Given the description of an element on the screen output the (x, y) to click on. 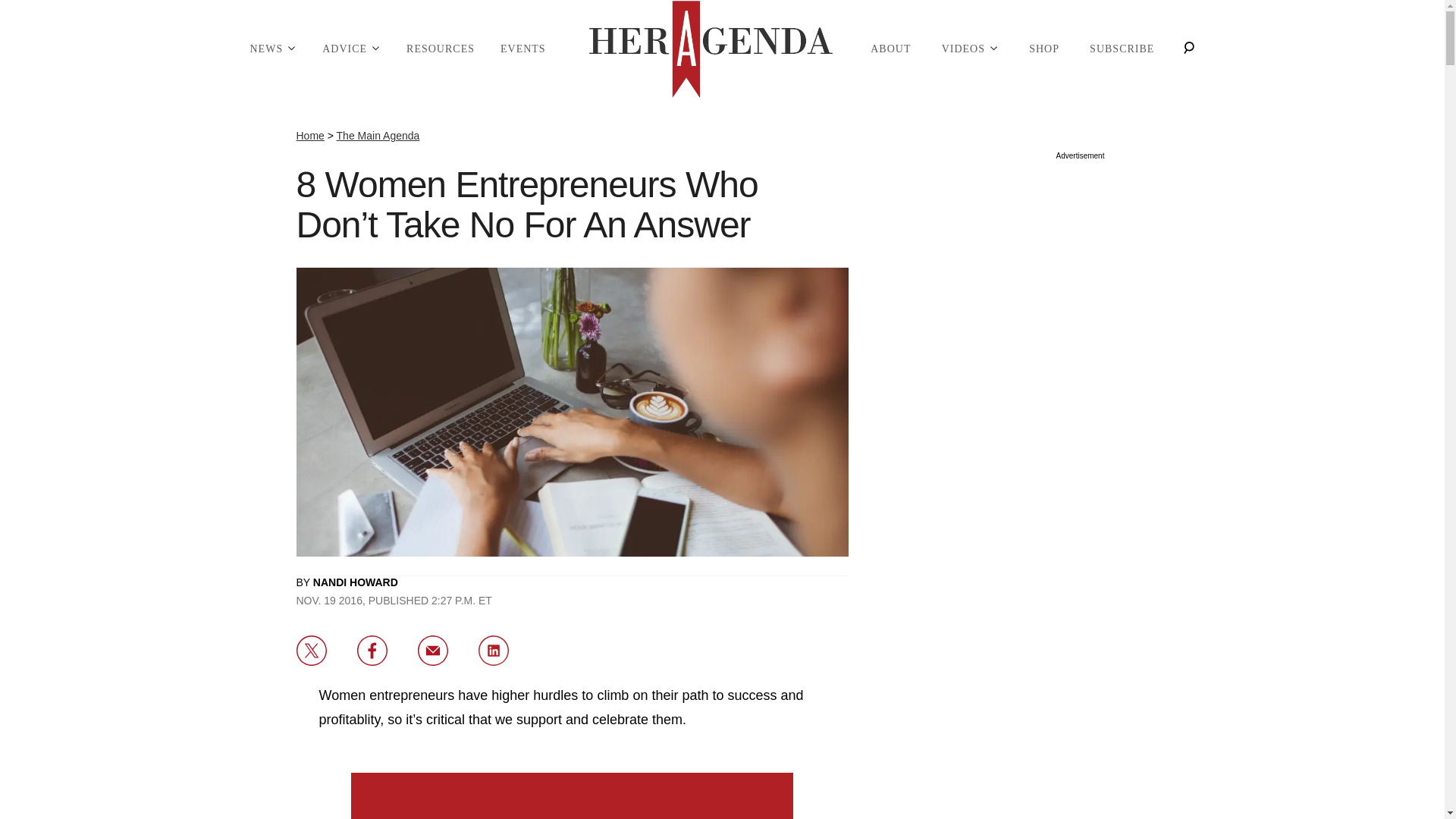
RESOURCES (440, 49)
ABOUT (890, 49)
SHOP (1043, 49)
Search Articles (1188, 49)
SUBSCRIBE (1122, 49)
EVENTS (523, 49)
